Given the description of an element on the screen output the (x, y) to click on. 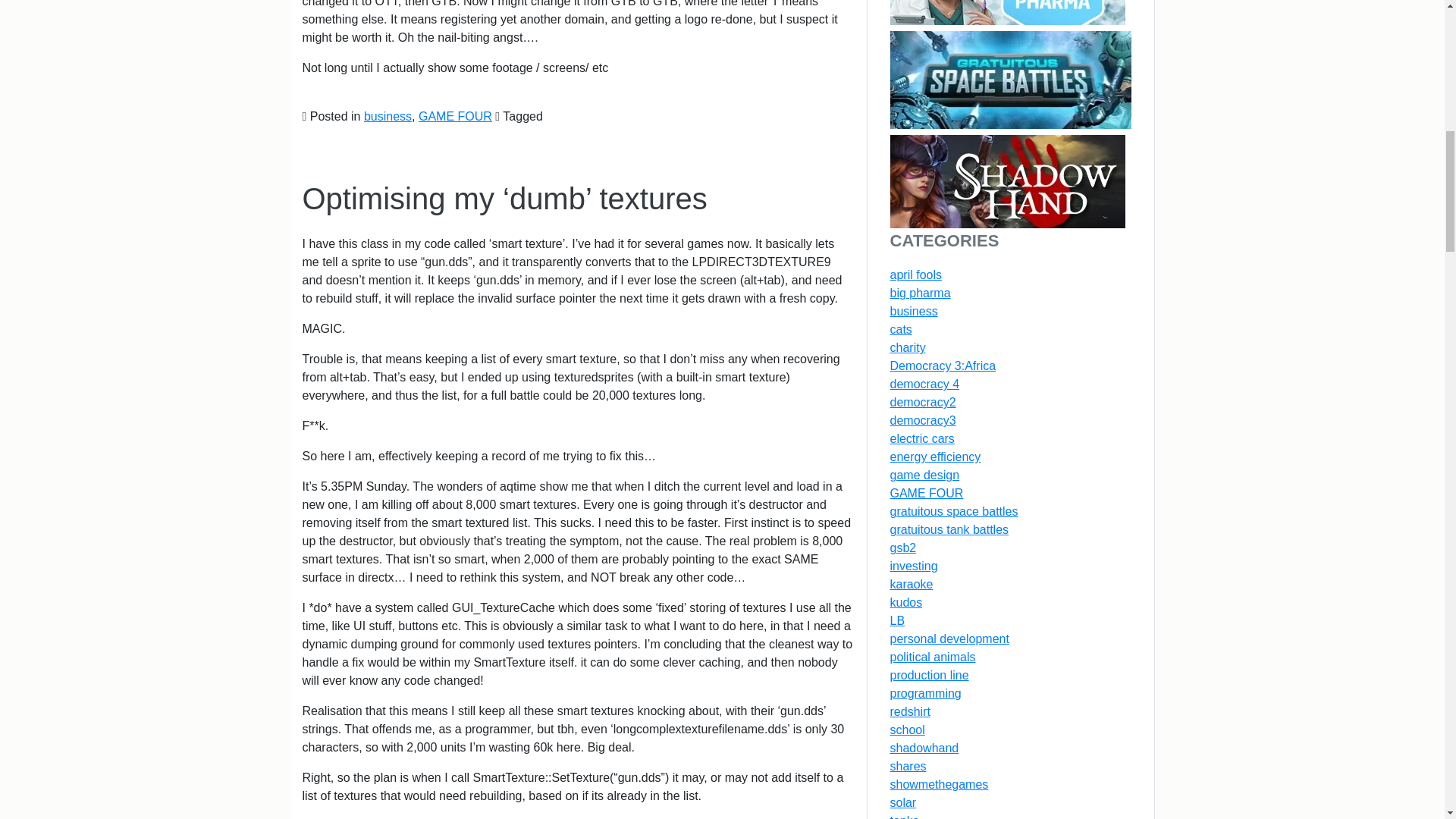
business (913, 310)
big pharma (919, 292)
cats (900, 328)
april fools (915, 274)
charity (907, 347)
business (388, 115)
GAME FOUR (455, 115)
Democracy 3:Africa (942, 365)
democracy2 (922, 401)
democracy 4 (924, 383)
democracy3 (922, 420)
